Given the description of an element on the screen output the (x, y) to click on. 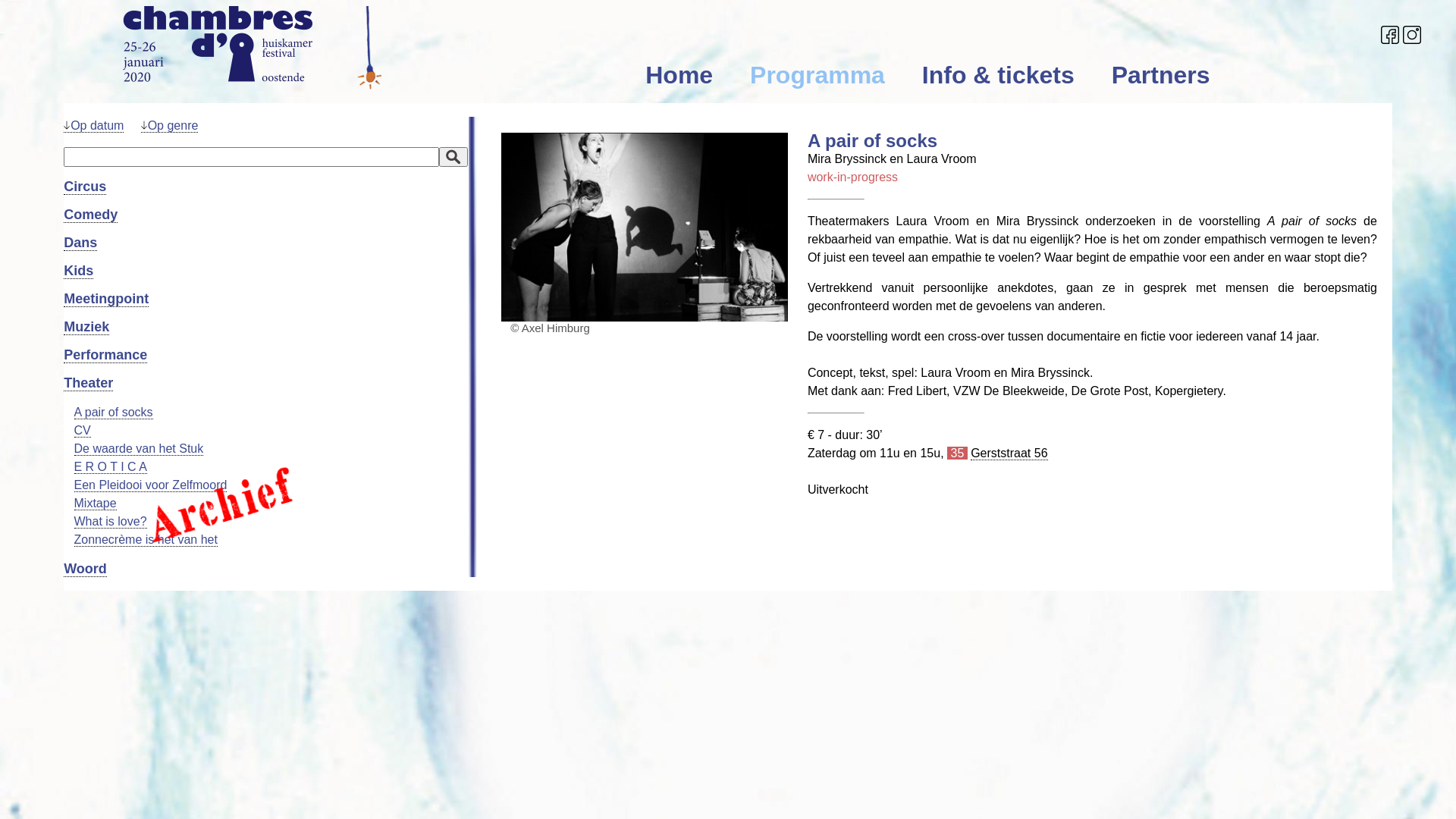
Partners      Element type: text (1177, 74)
Comedy Element type: text (90, 214)
Op genre Element type: text (169, 125)
Gerststraat 56 Element type: text (1008, 453)
Home      Element type: text (695, 74)
De waarde van het Stuk Element type: text (138, 448)
Circus Element type: text (84, 186)
Muziek Element type: text (86, 327)
Info & tickets      Element type: text (1014, 74)
Huiskamerfestival Chambres d'O Element type: hover (251, 47)
E R O T I C A Element type: text (110, 466)
Programma      Element type: text (833, 74)
A pair of socks Element type: text (113, 412)
Performance Element type: text (105, 355)
What is love? Element type: text (110, 521)
Woord Element type: text (84, 569)
Kids Element type: text (78, 271)
Op datum Element type: text (93, 125)
Meetingpoint Element type: text (105, 299)
Een Pleidooi voor Zelfmoord Element type: text (150, 485)
Dans Element type: text (80, 243)
Theater Element type: text (87, 383)
CV Element type: text (82, 430)
Mixtape Element type: text (95, 503)
